Given the description of an element on the screen output the (x, y) to click on. 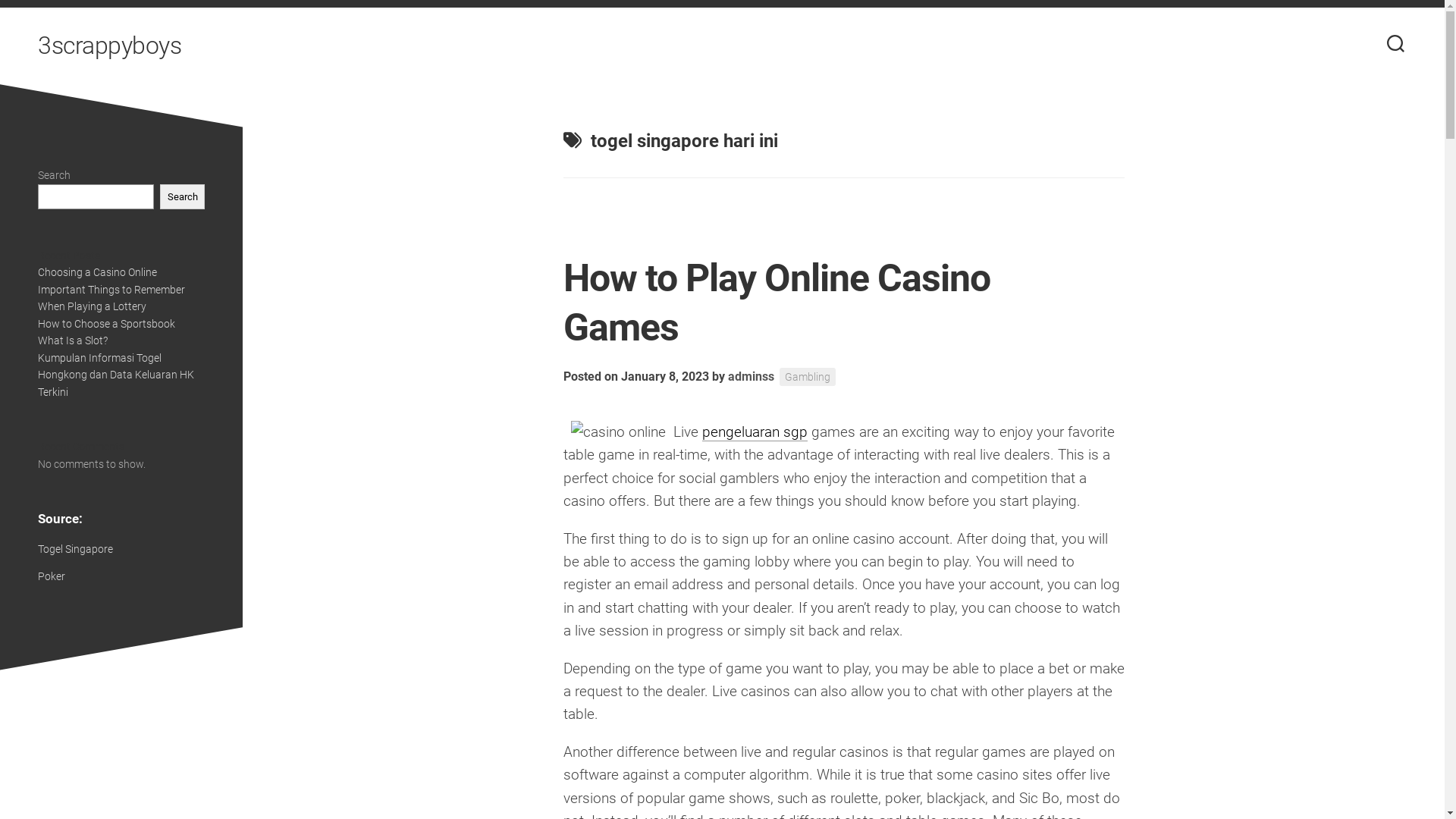
What Is a Slot? Element type: text (72, 340)
Choosing a Casino Online Element type: text (96, 272)
How to Choose a Sportsbook Element type: text (106, 322)
Gambling Element type: text (807, 376)
pengeluaran sgp Element type: text (754, 431)
How to Play Online Casino Games Element type: text (775, 302)
Togel Singapore Element type: text (74, 548)
Poker Element type: text (51, 576)
Important Things to Remember When Playing a Lottery Element type: text (111, 298)
3scrappyboys Element type: text (109, 45)
adminss Element type: text (751, 376)
Search Element type: text (182, 195)
